Given the description of an element on the screen output the (x, y) to click on. 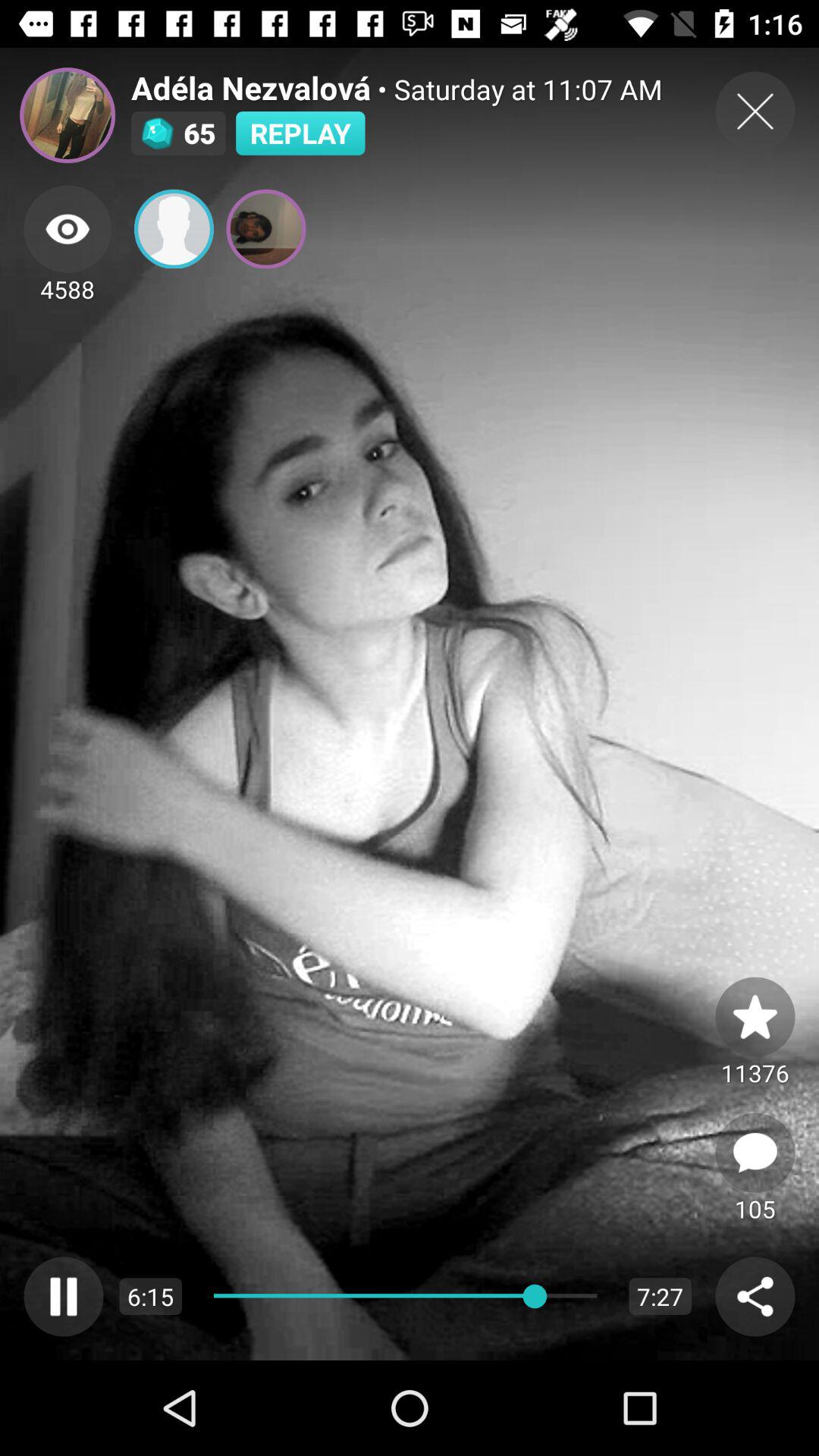
select artist (67, 115)
